Given the description of an element on the screen output the (x, y) to click on. 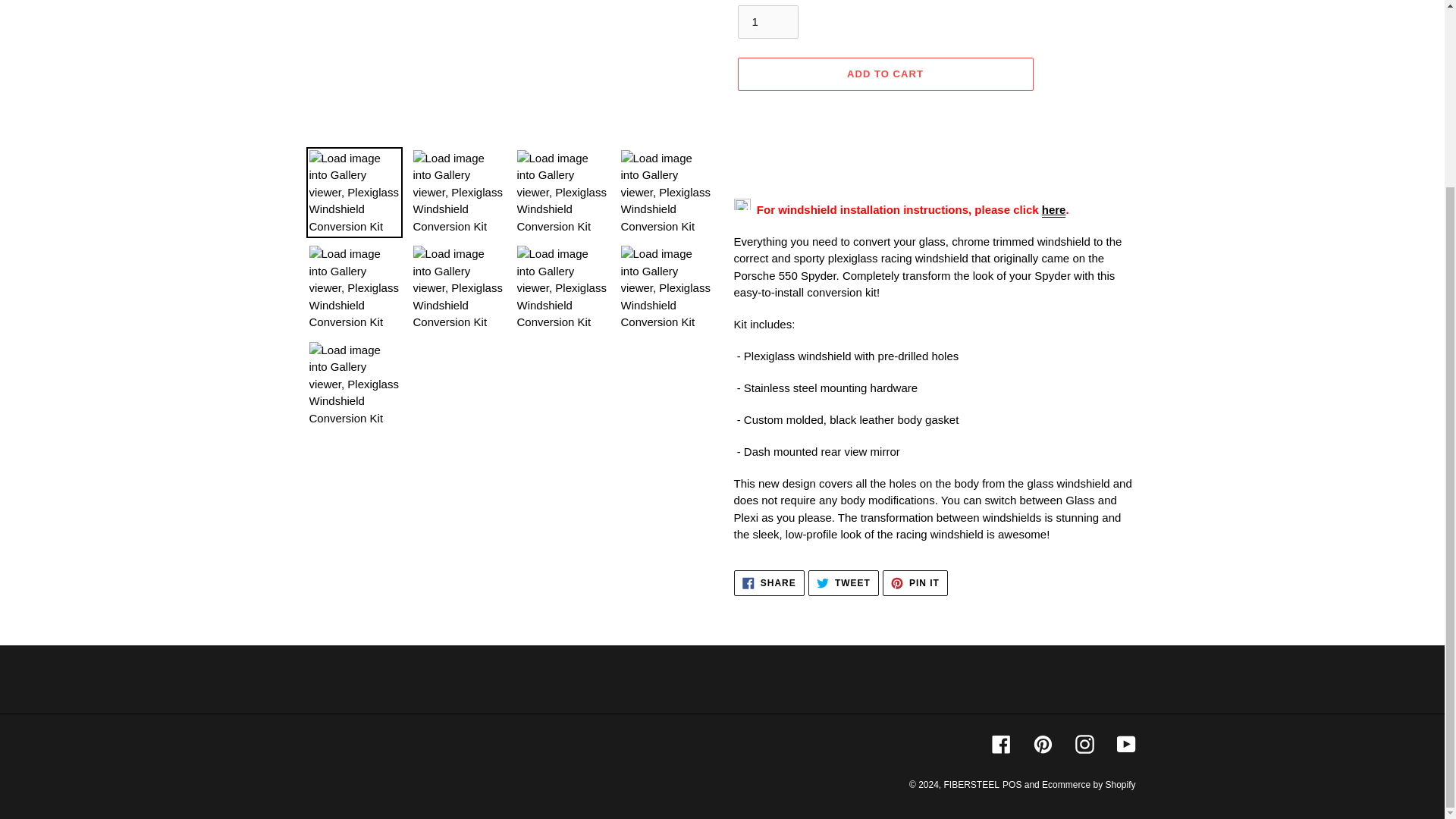
Plexi Windshield Kit Instructions (1053, 210)
1 (843, 583)
ADD TO CART (766, 21)
here (769, 583)
